Given the description of an element on the screen output the (x, y) to click on. 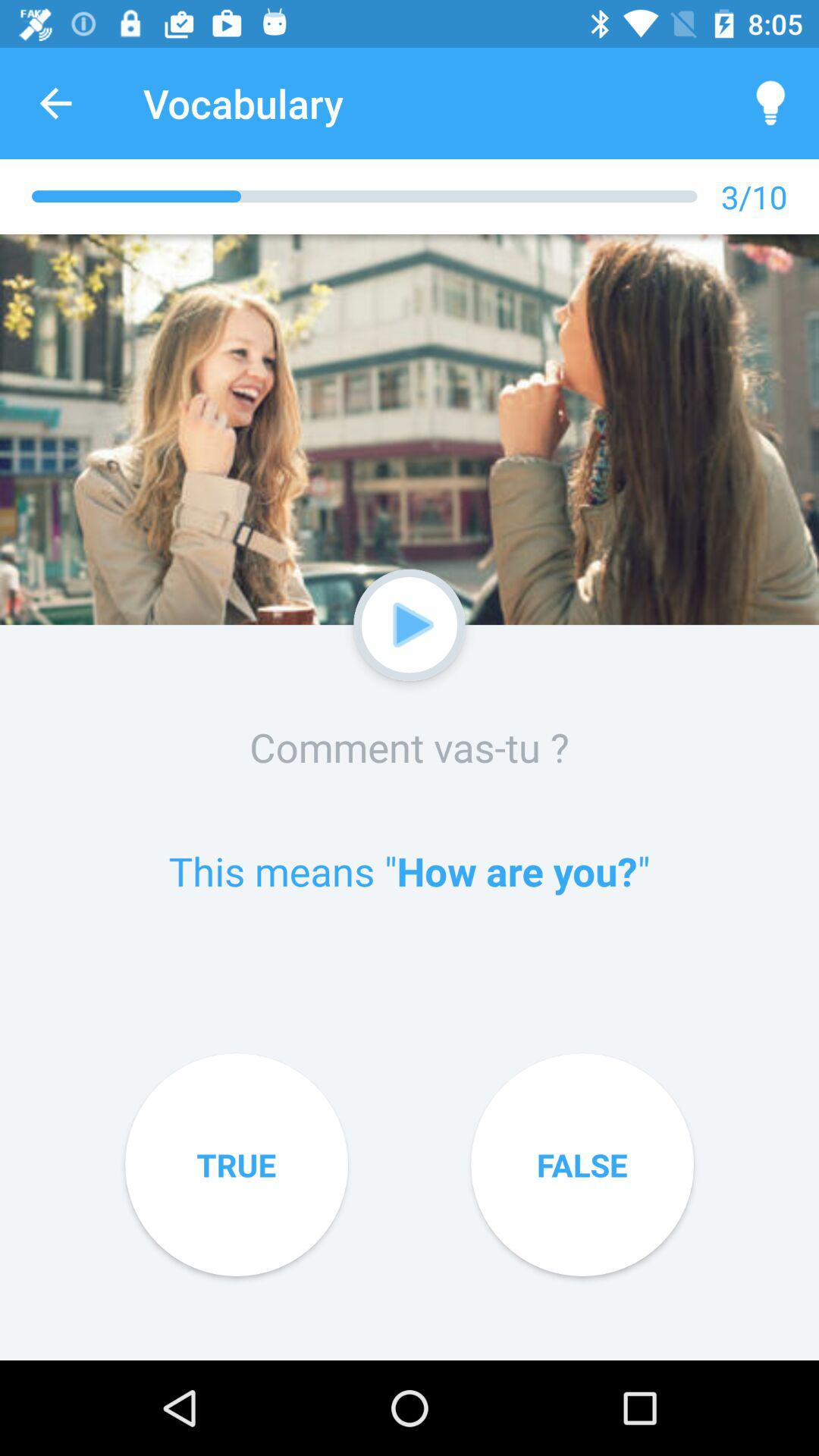
launch item above the 3/10 icon (771, 103)
